Given the description of an element on the screen output the (x, y) to click on. 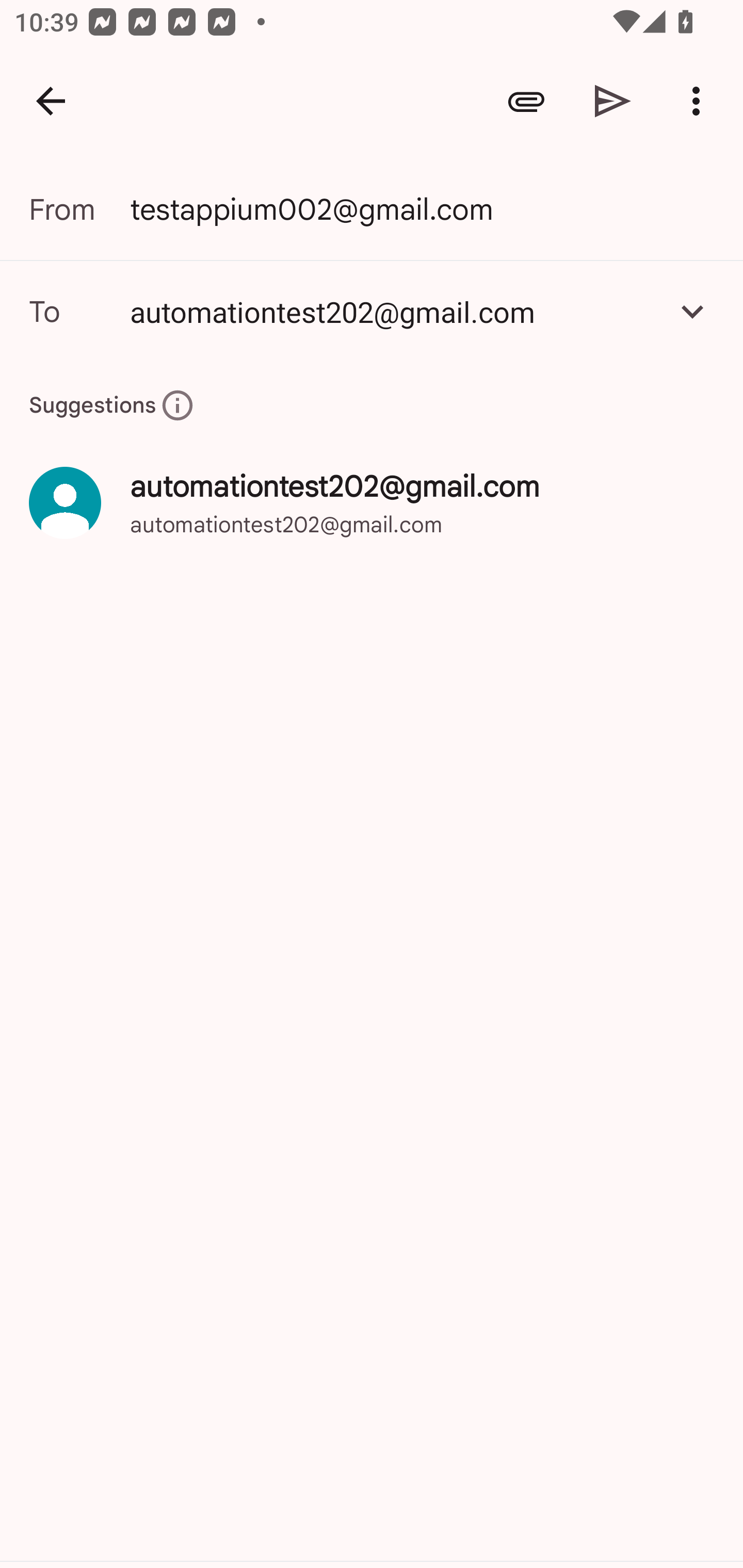
Navigate up (50, 101)
Attach file (525, 101)
Send (612, 101)
More options (699, 101)
From (79, 209)
Add Cc/Bcc (692, 311)
automationtest202@gmail.com (371, 311)
automationtest202@gmail.com (393, 311)
